Given the description of an element on the screen output the (x, y) to click on. 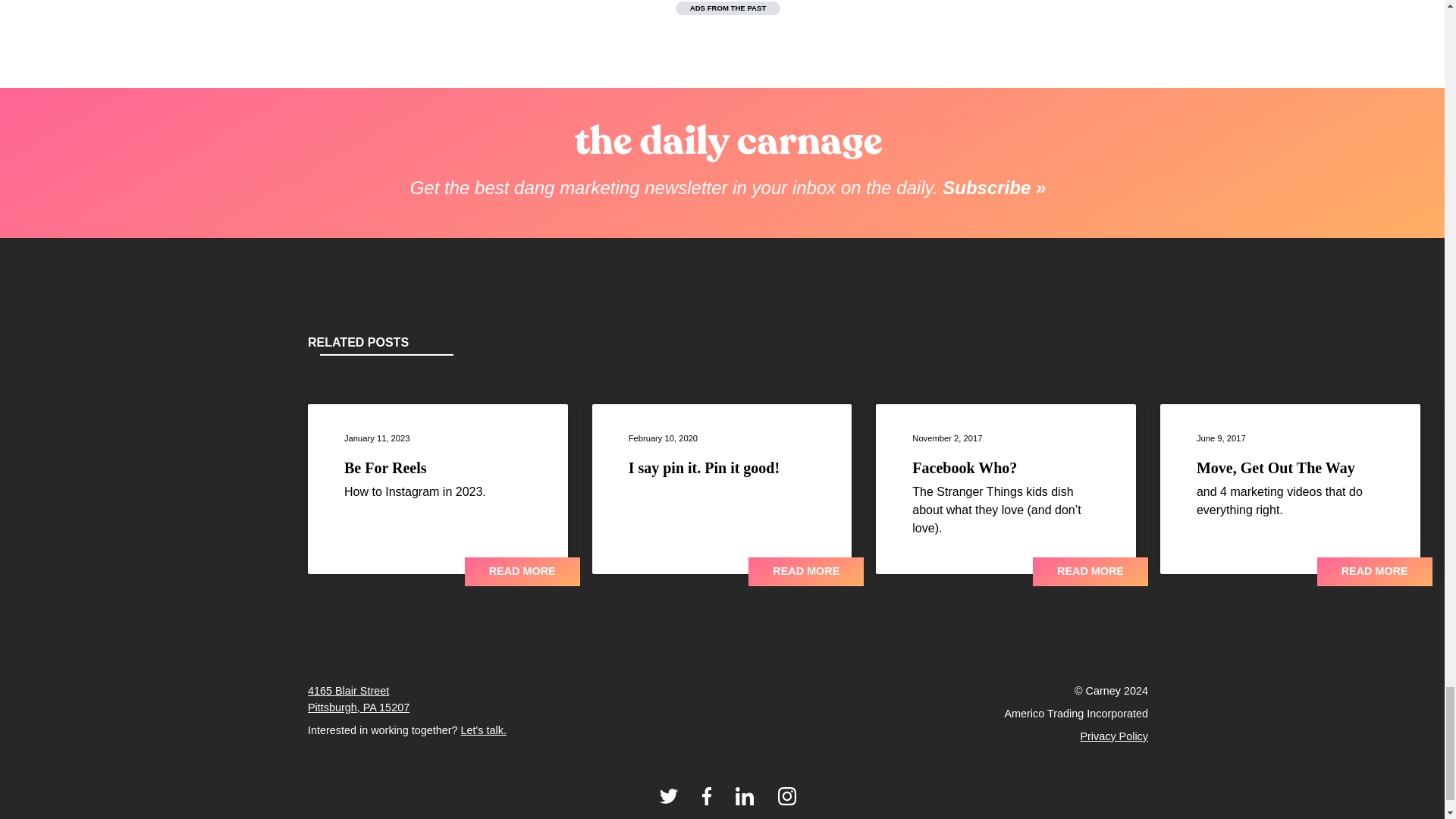
READ MORE (805, 572)
ADS FROM THE PAST (727, 8)
READ MORE (1374, 572)
Privacy Policy (1114, 736)
I say pin it. Pin it good! (703, 467)
Move, Get Out The Way (1275, 467)
Be For Reels (384, 467)
Let's talk. (483, 729)
READ MORE (1090, 572)
READ MORE (521, 572)
